Given the description of an element on the screen output the (x, y) to click on. 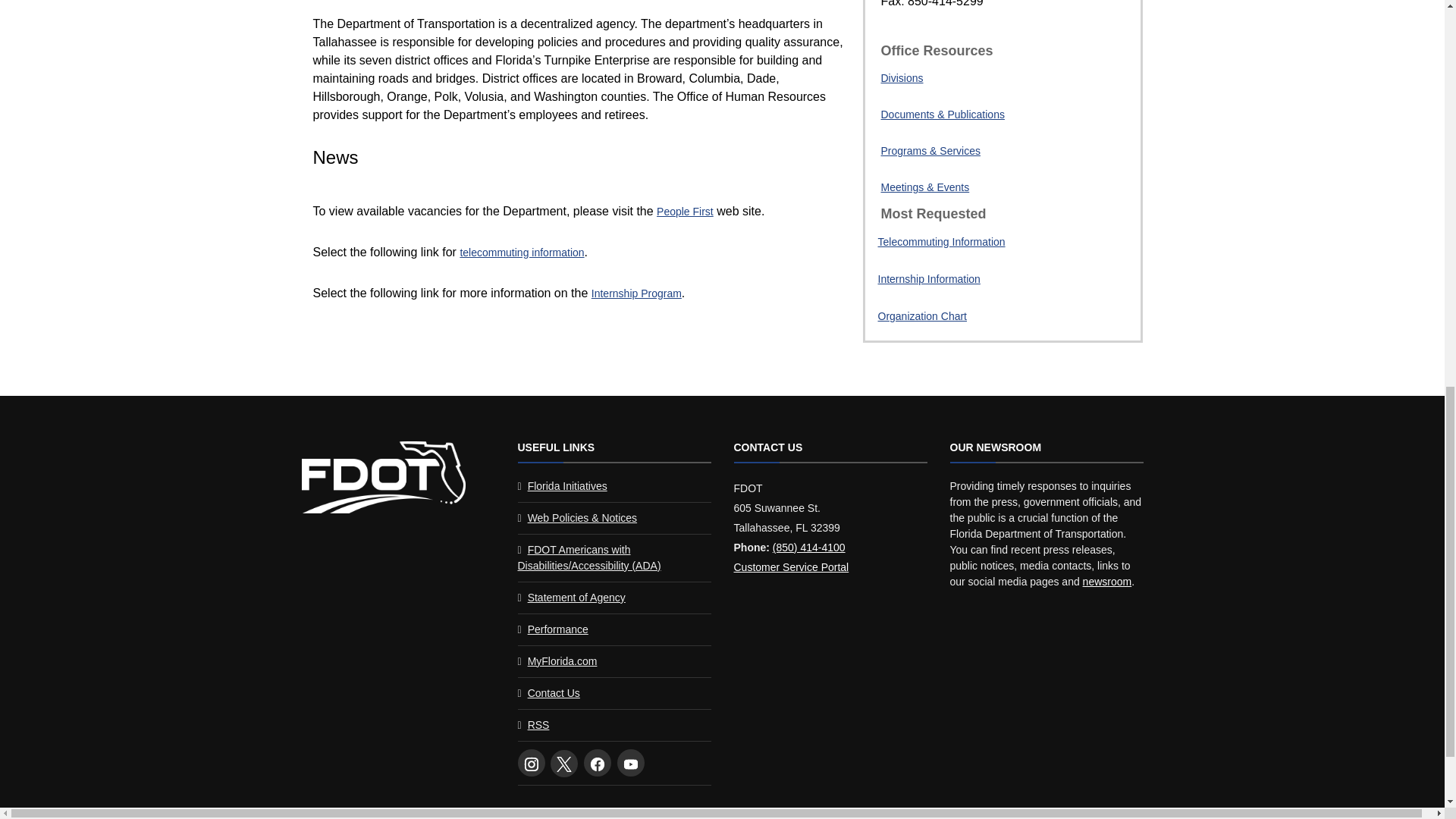
Statement of Agency (576, 597)
Performance (557, 629)
People First (684, 211)
Divisions (901, 78)
Internship Information (953, 283)
Telecommuting Information (953, 246)
Florida Initiatives (567, 485)
Organization Chart (953, 320)
telecommuting information (521, 252)
Internship Program (636, 293)
